Given the description of an element on the screen output the (x, y) to click on. 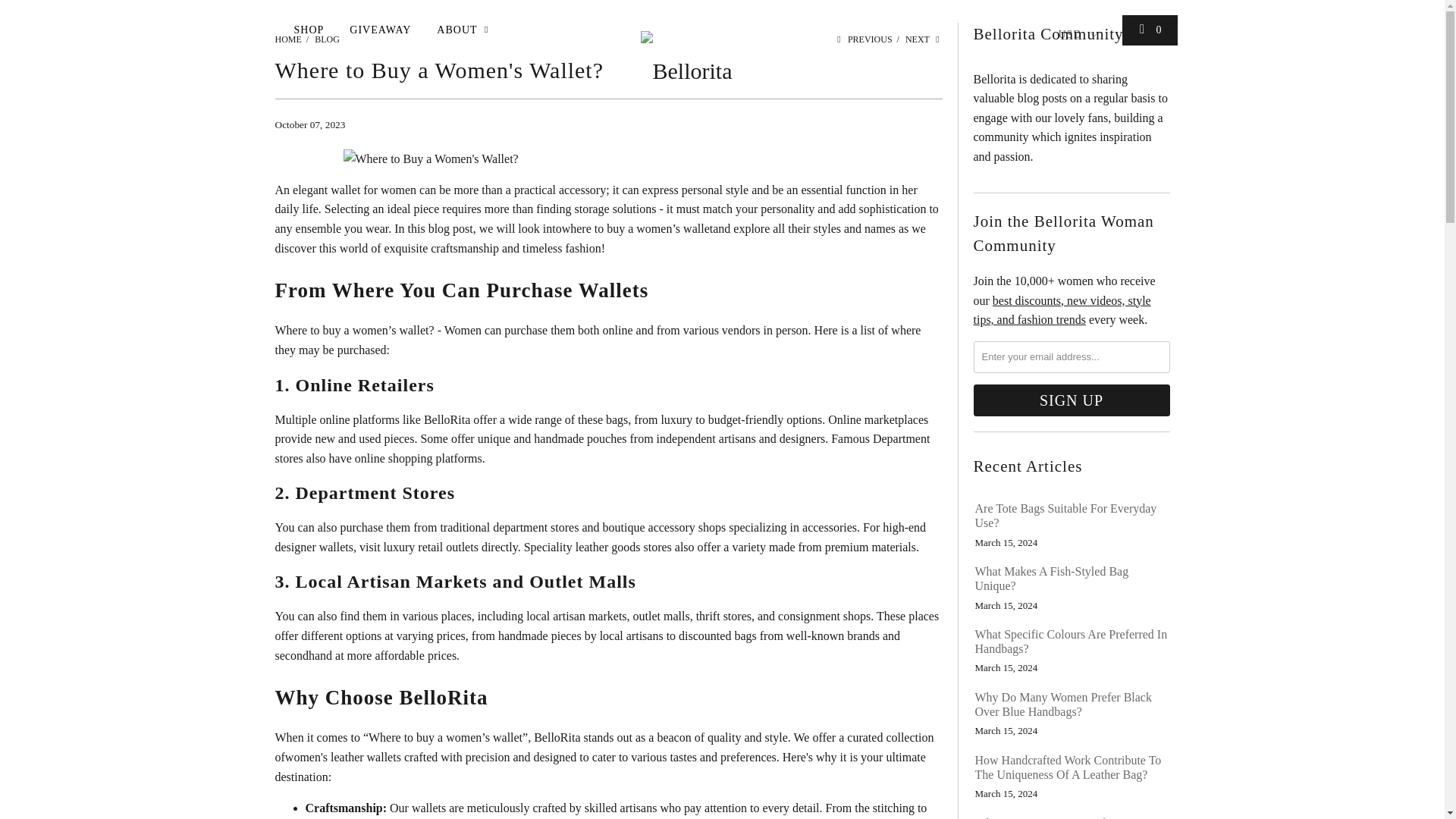
GIVEAWAY (379, 30)
Bellorita (288, 39)
Bellorita (708, 4)
Sign Up (1072, 400)
0 (1149, 30)
Blog (326, 39)
SHOP (309, 30)
ABOUT (464, 30)
